Given the description of an element on the screen output the (x, y) to click on. 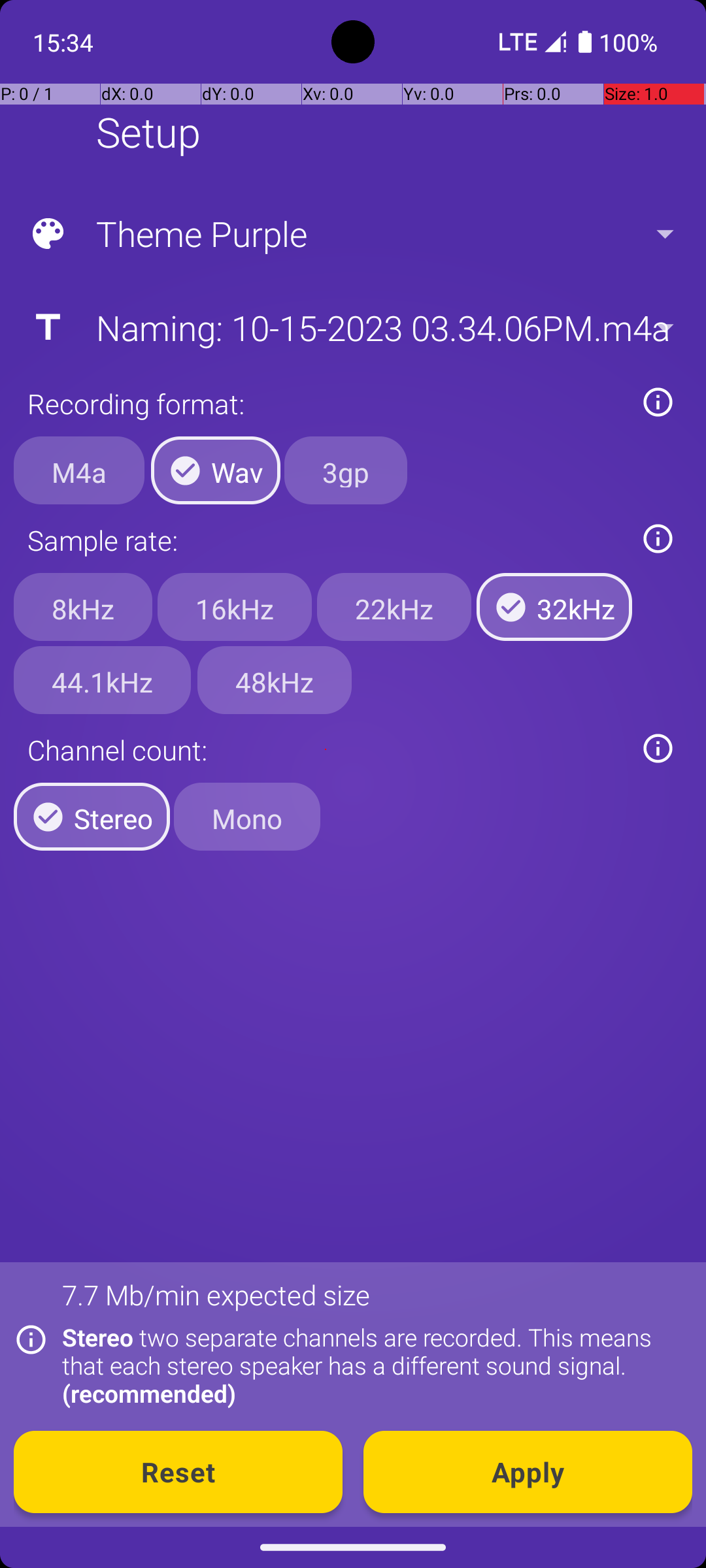
7.7 Mb/min expected size Element type: android.widget.TextView (215, 1294)
Stereo two separate channels are recorded. This means that each stereo speaker has a different sound signal. (recommended) Element type: android.widget.TextView (370, 1364)
Naming: 10-15-2023 03.34.06PM.m4a Element type: android.widget.TextView (352, 327)
